Given the description of an element on the screen output the (x, y) to click on. 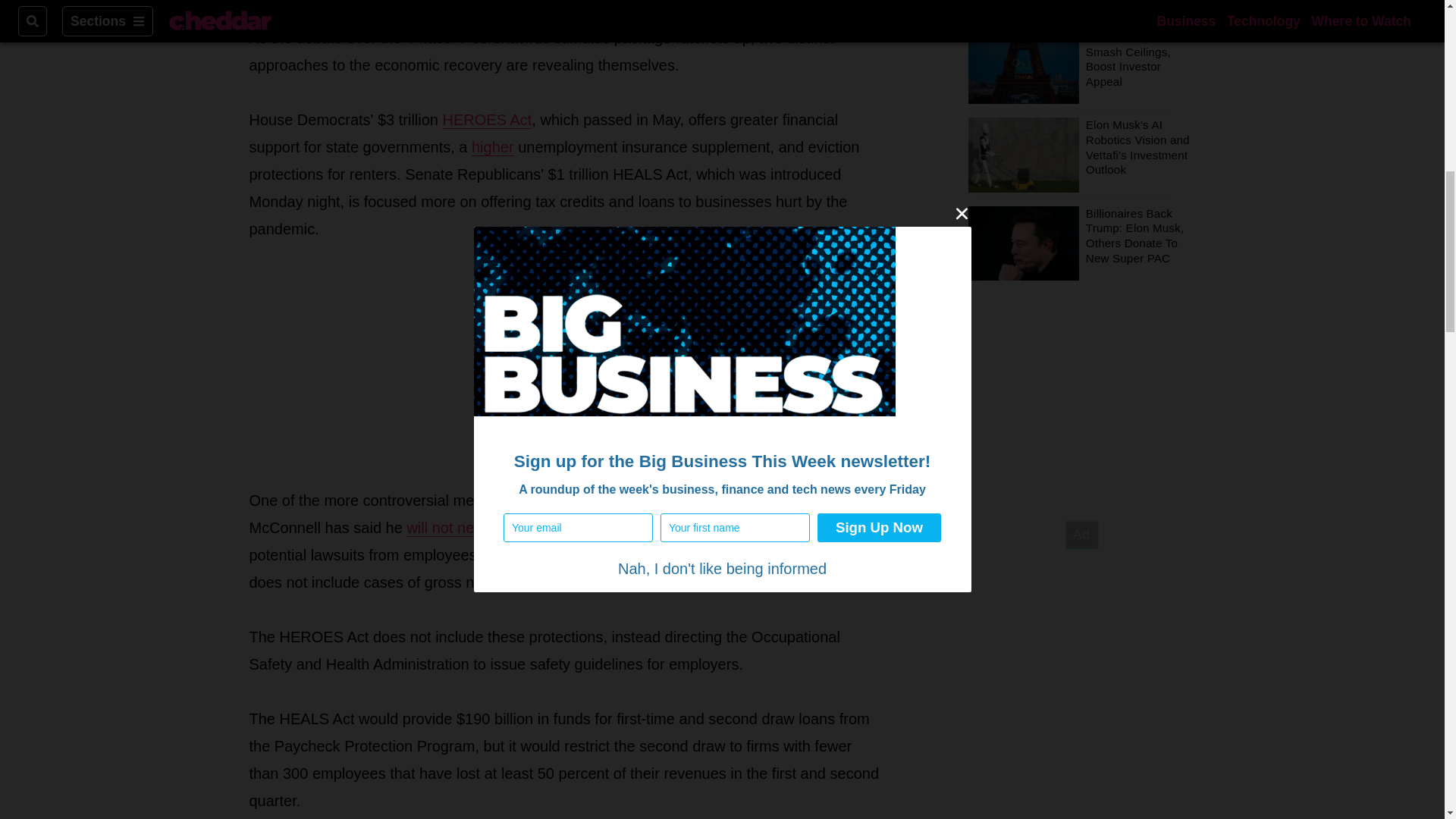
HEROES Act (487, 119)
higher (492, 147)
will not negotiate (462, 528)
3rd party ad content (563, 364)
